Given the description of an element on the screen output the (x, y) to click on. 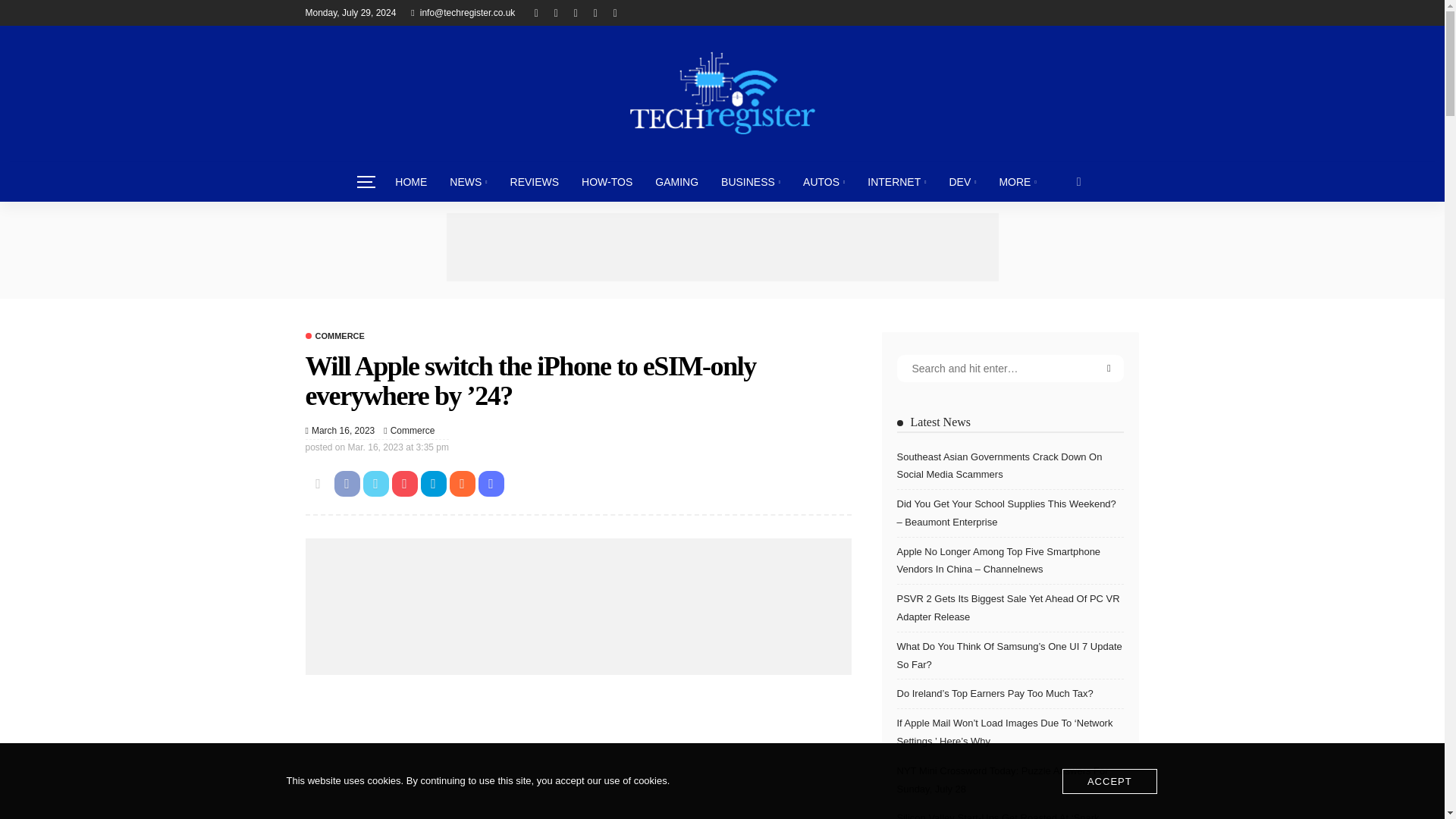
Advertisement (577, 754)
search (1079, 181)
Techregister (721, 93)
Commerce (412, 430)
Advertisement (721, 246)
Commerce (334, 336)
